Given the description of an element on the screen output the (x, y) to click on. 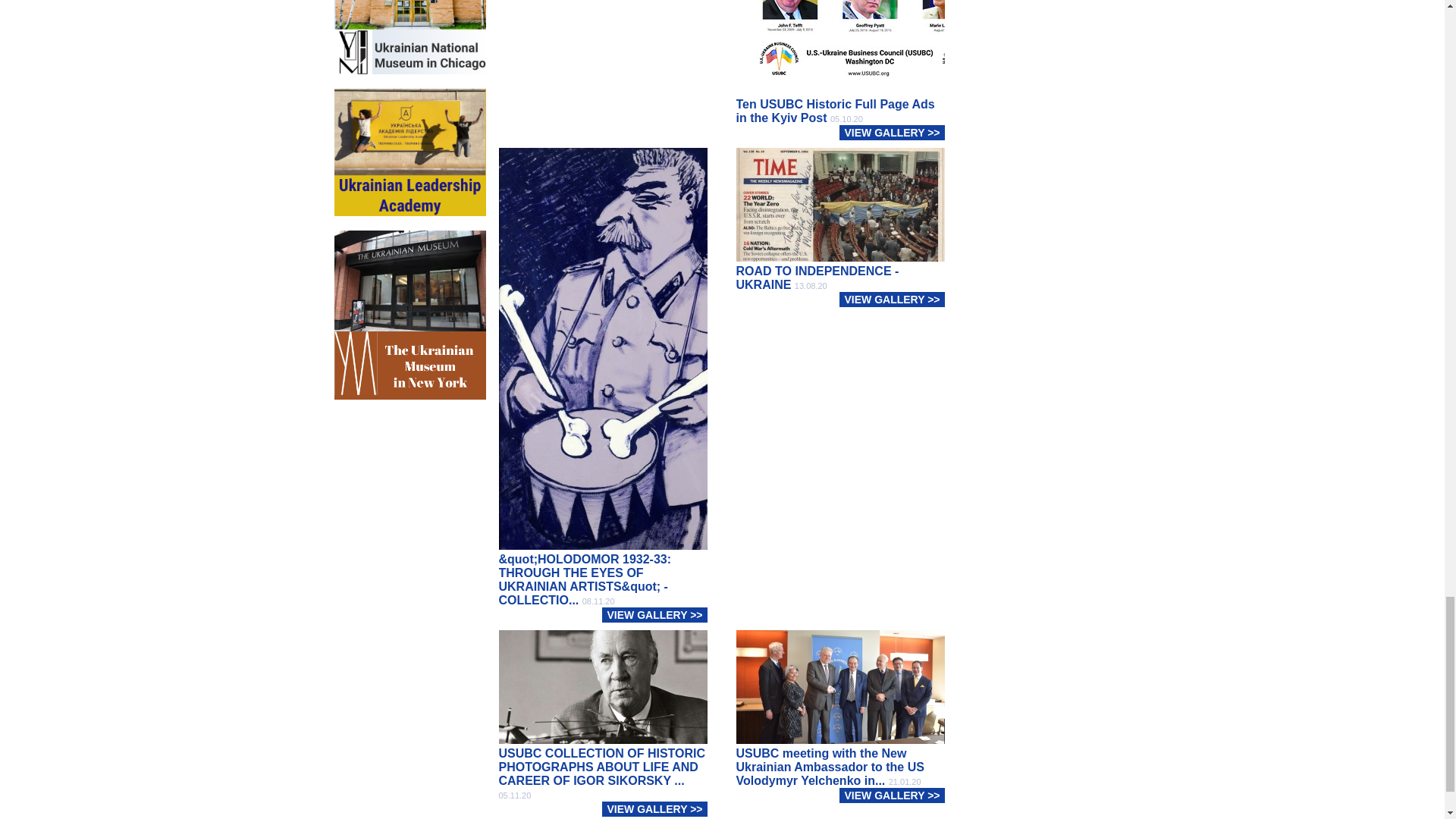
Ukrainian Leadership Academy (408, 294)
David Sharashidze Artwork Catalogue (408, 39)
Ukrainian National Museum in Chicago (408, 152)
